Given the description of an element on the screen output the (x, y) to click on. 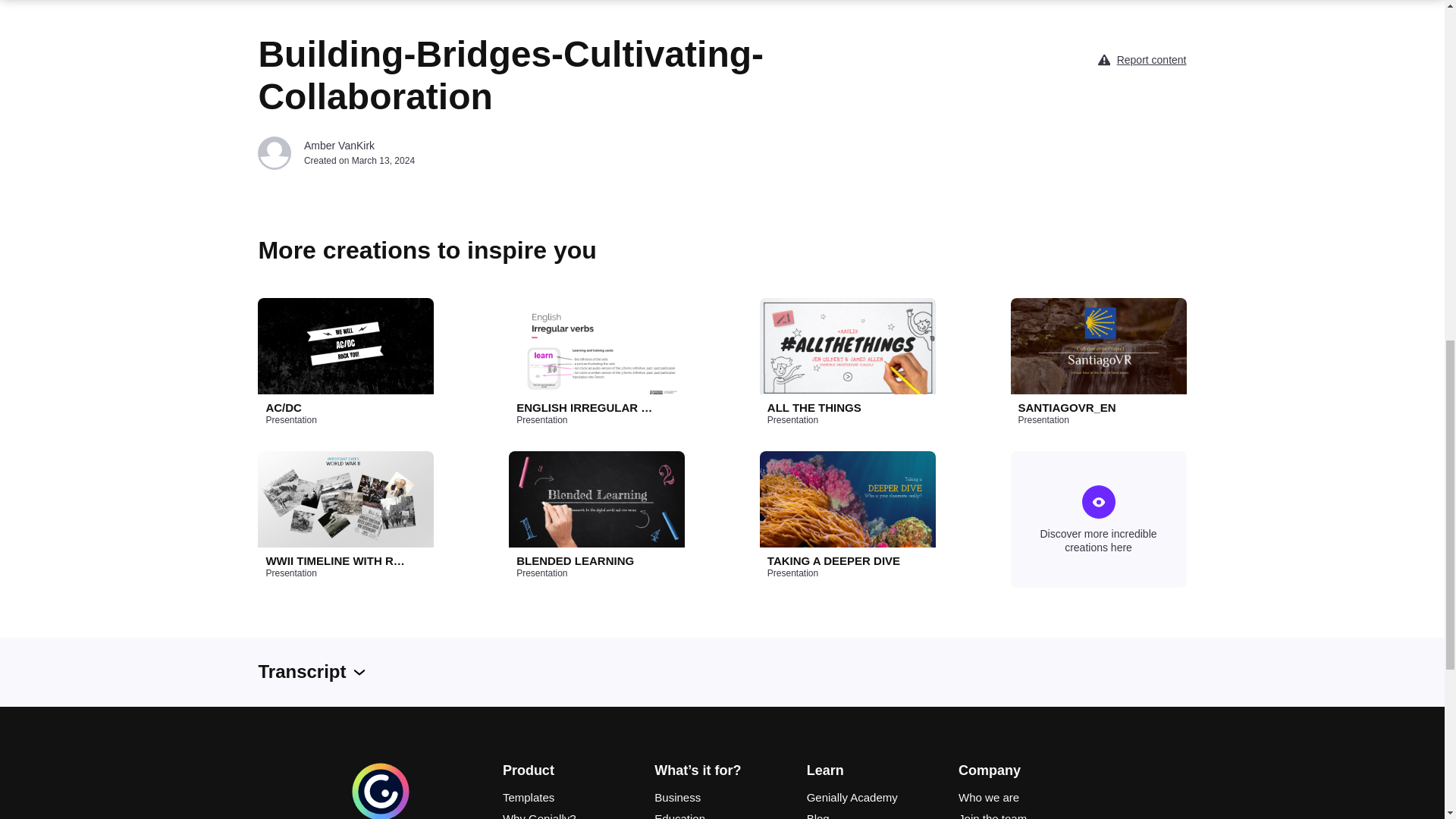
Why Genially? (569, 814)
WWII TIMELINE WITH REVIEW (335, 560)
TAKING A DEEPER DIVE (838, 560)
BLENDED LEARNING (587, 560)
Report content (1151, 59)
ENGLISH IRREGULAR VERBS (587, 407)
Business (721, 797)
Discover more incredible creations here (1098, 519)
ALL THE THINGS (838, 407)
Genially home page (380, 815)
Templates (569, 797)
